Given the description of an element on the screen output the (x, y) to click on. 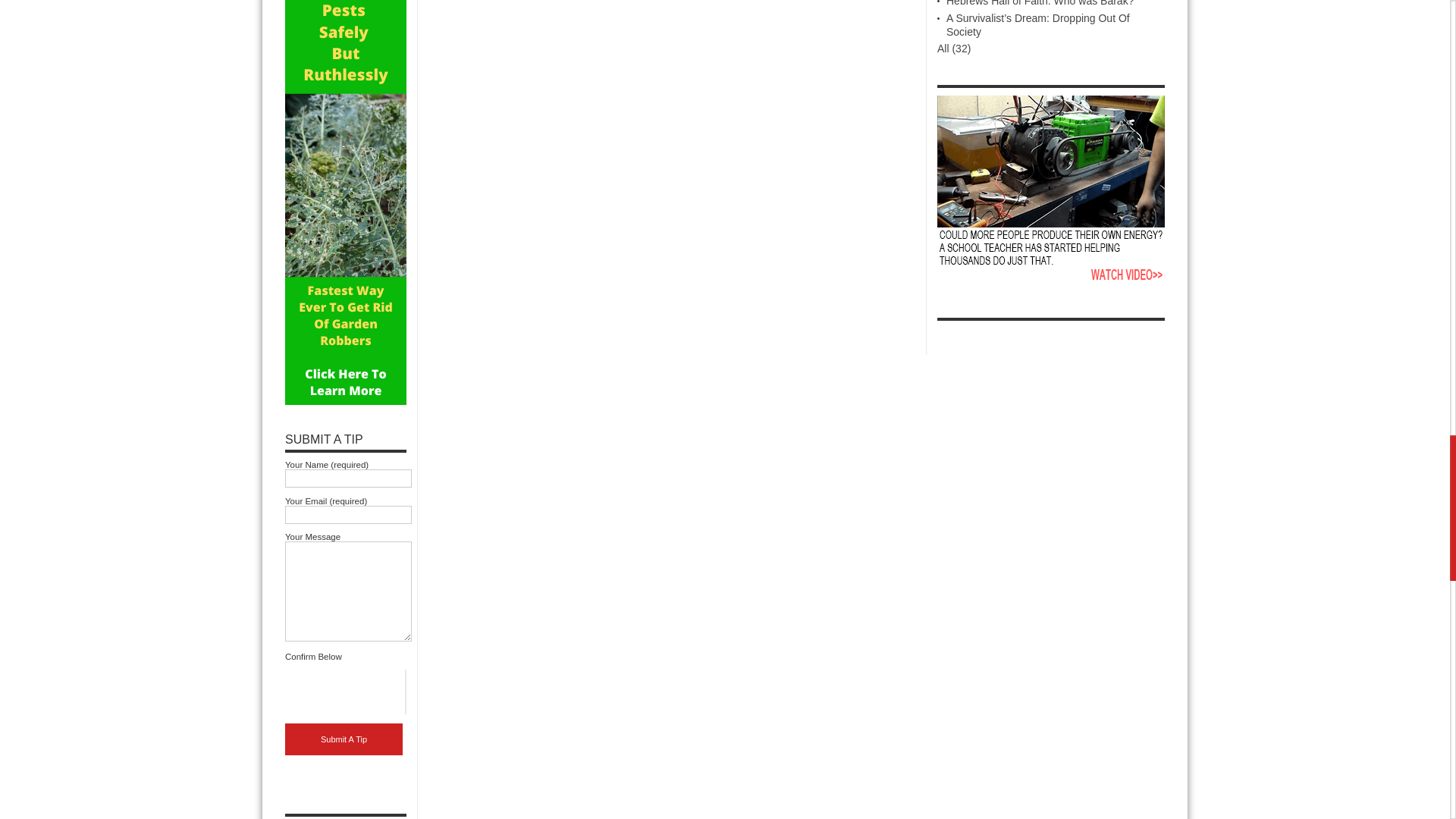
Submit A Tip (344, 739)
